Given the description of an element on the screen output the (x, y) to click on. 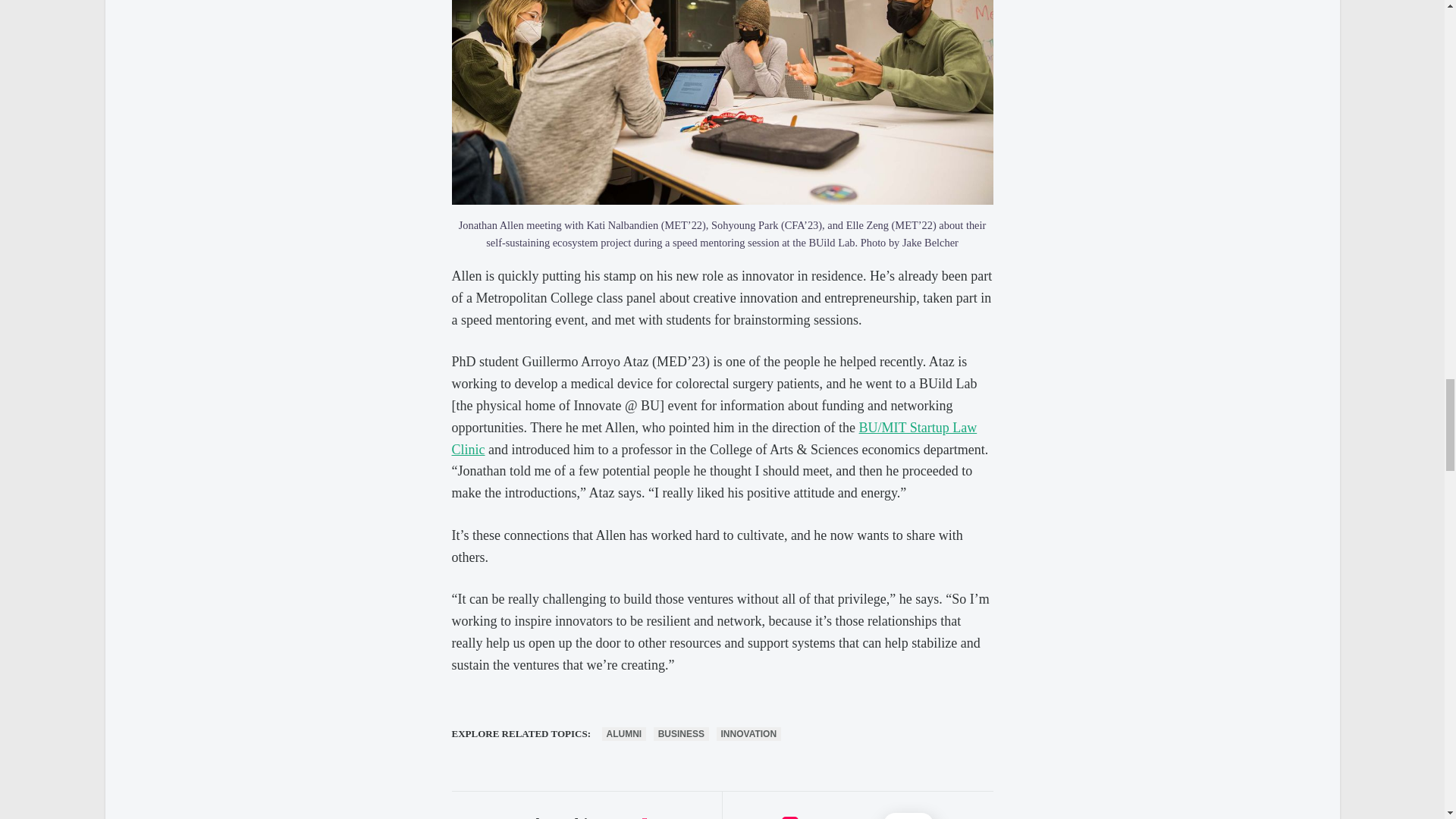
ADD (908, 816)
BUSINESS (681, 734)
INNOVATION (748, 734)
0 (789, 817)
ALUMNI (624, 734)
